Given the description of an element on the screen output the (x, y) to click on. 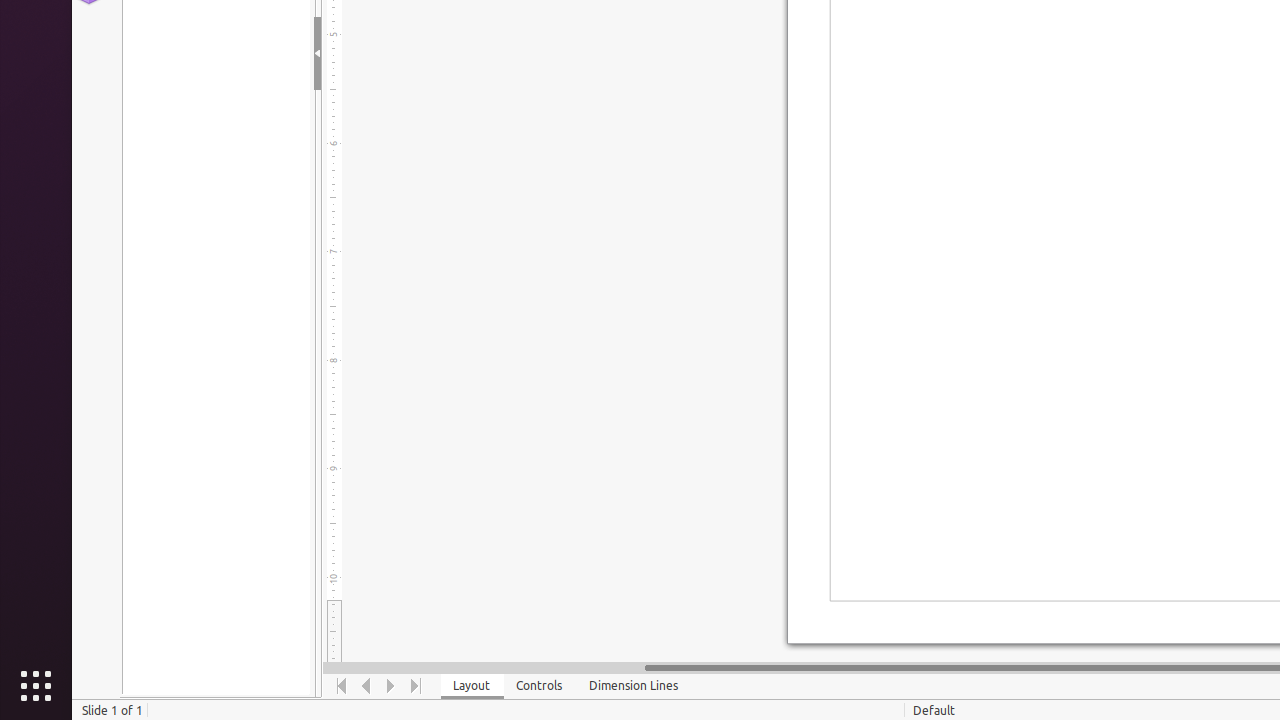
Move To Home Element type: push-button (341, 686)
Move Left Element type: push-button (366, 686)
Move Right Element type: push-button (391, 686)
Controls Element type: page-tab (540, 686)
Move To End Element type: push-button (416, 686)
